Given the description of an element on the screen output the (x, y) to click on. 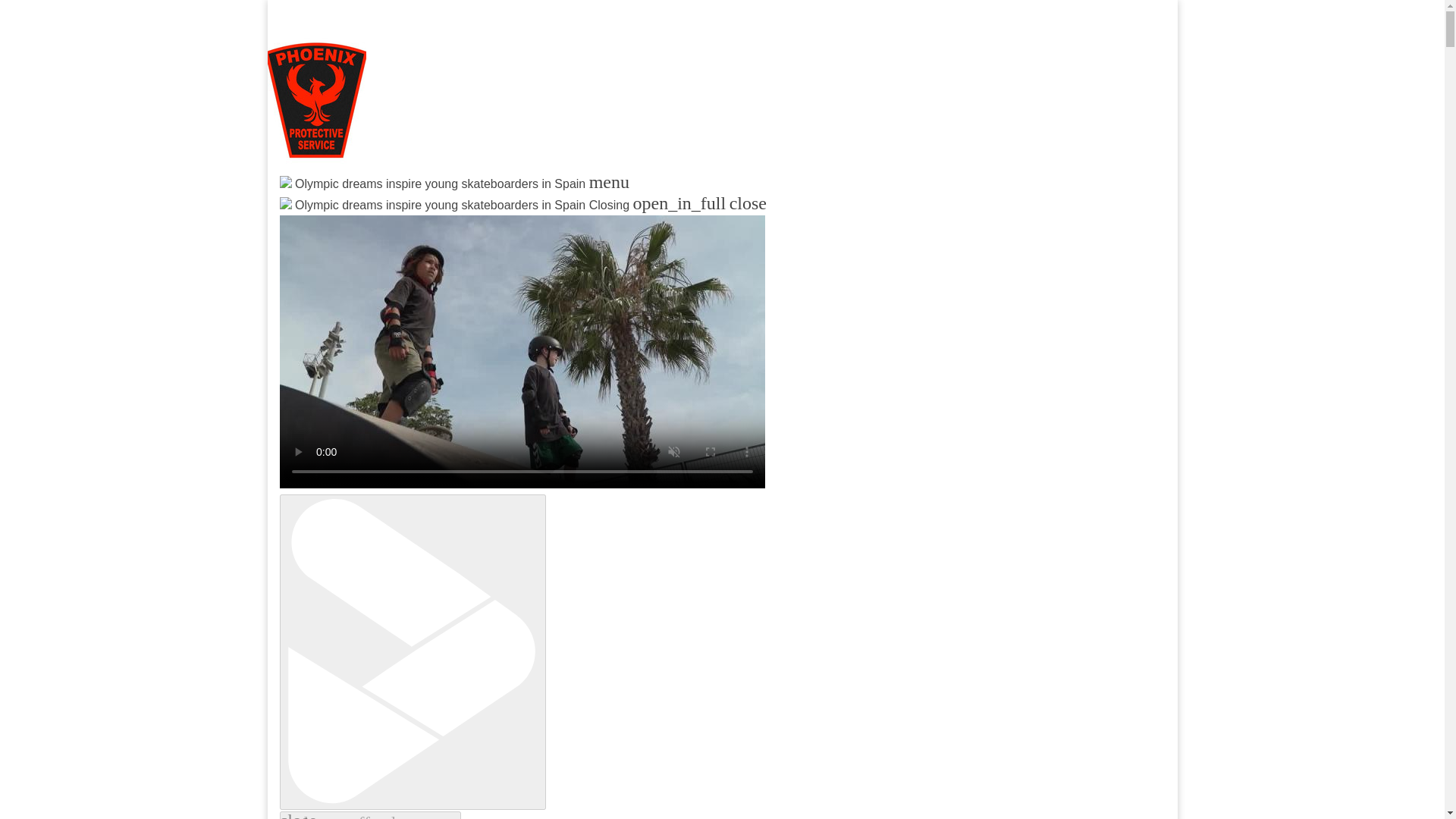
Skope Entertainment Inc (462, 220)
Skope Entertainment Inc (462, 220)
